Given the description of an element on the screen output the (x, y) to click on. 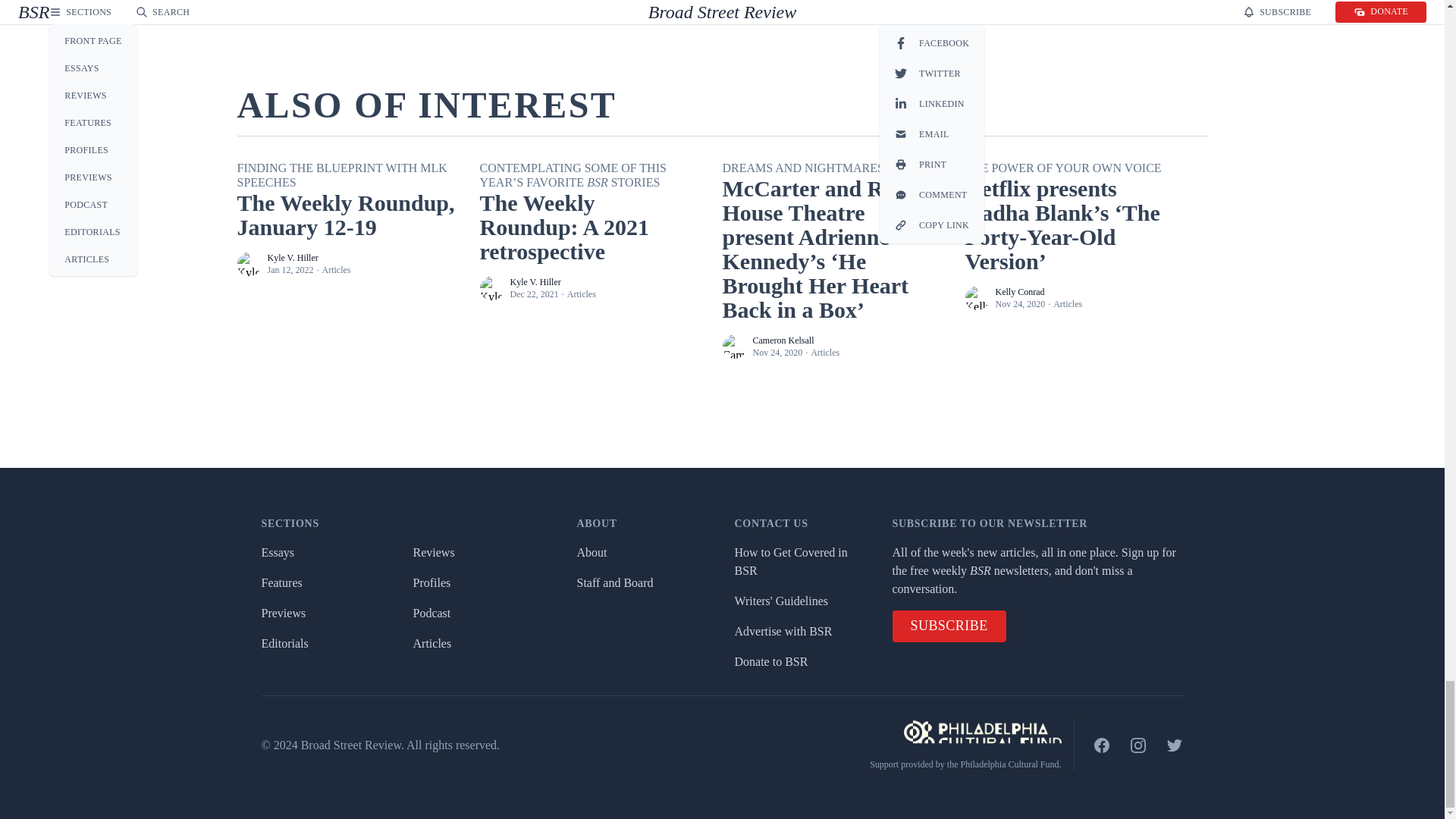
Articles (335, 269)
Kyle V. Hiller (534, 281)
Kyle V. Hiller (291, 257)
Articles (581, 294)
